Given the description of an element on the screen output the (x, y) to click on. 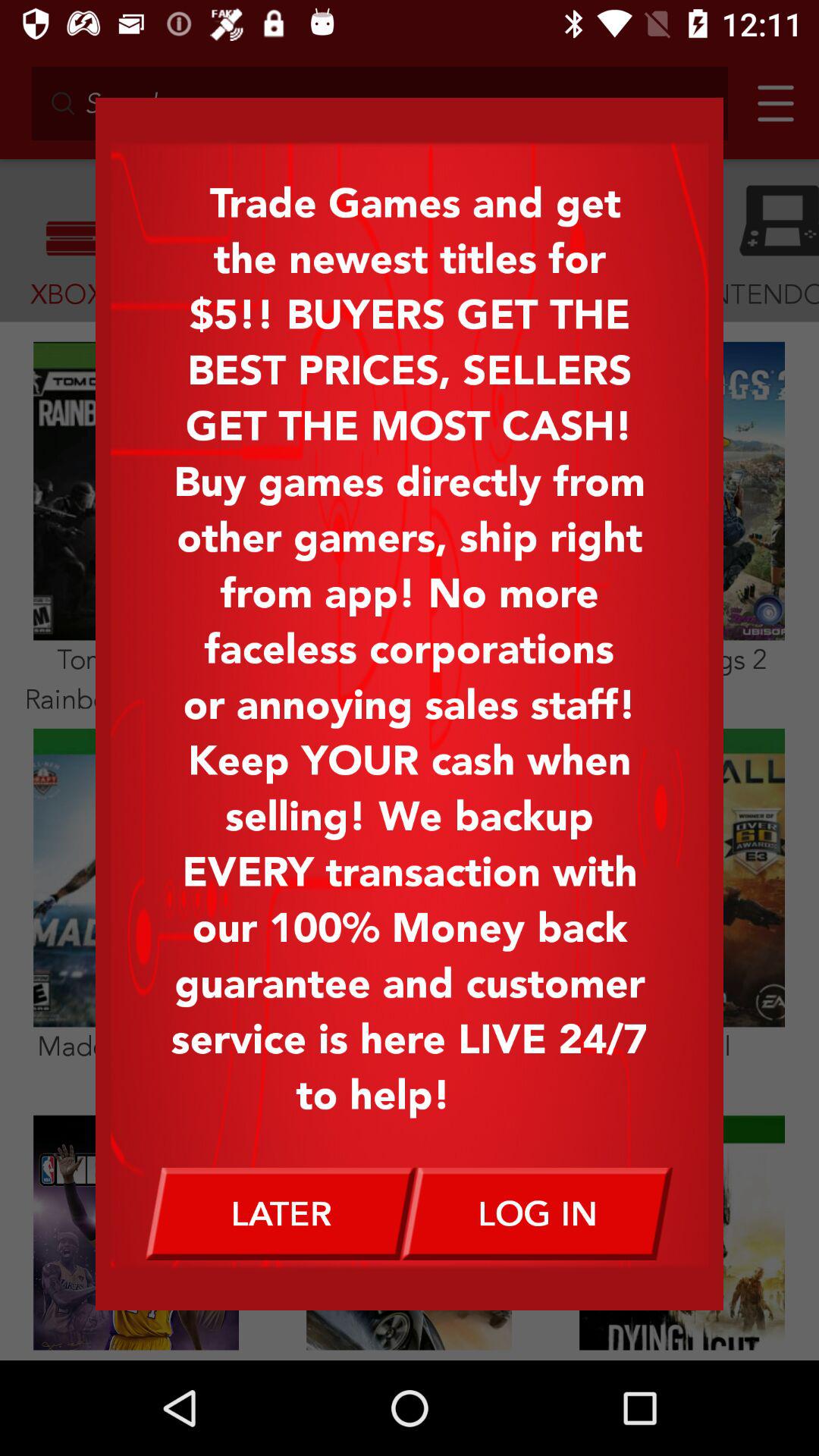
click the item below the trade games and item (537, 1213)
